Given the description of an element on the screen output the (x, y) to click on. 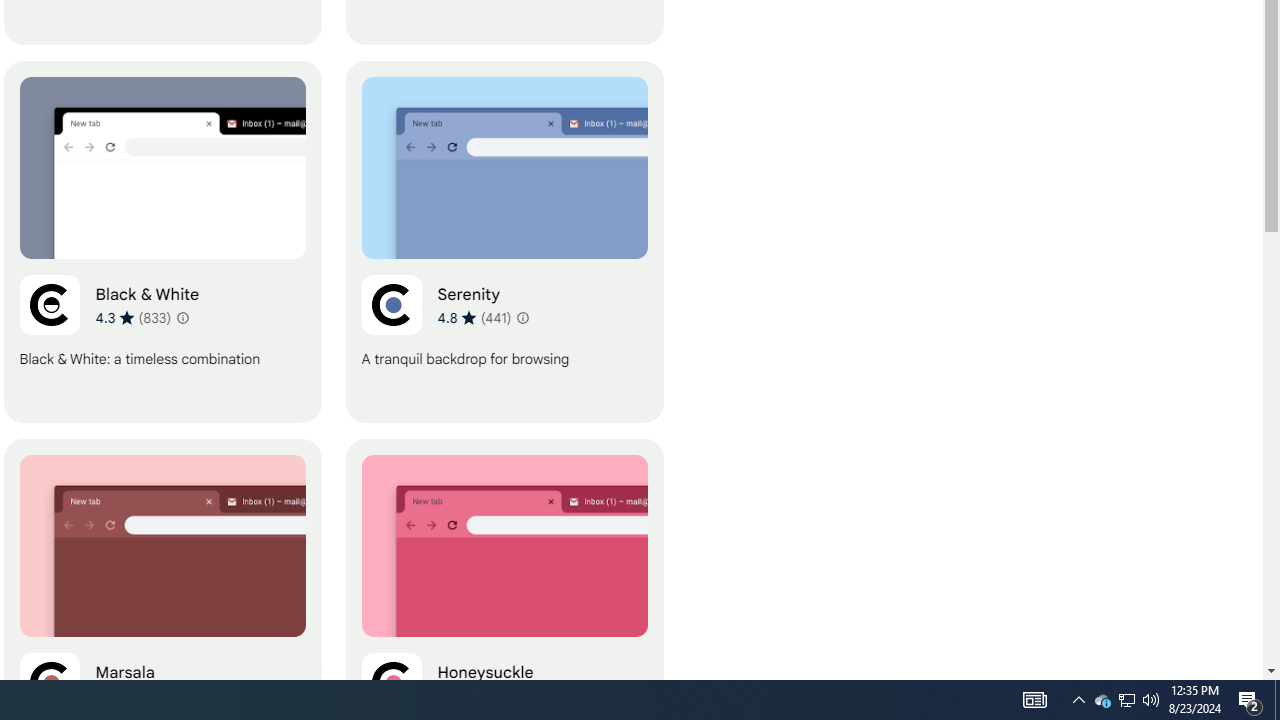
Average rating 4.8 out of 5 stars. 441 ratings. (474, 317)
Serenity (504, 242)
Learn more about results and reviews "Black & White" (182, 317)
Average rating 4.3 out of 5 stars. 833 ratings. (132, 317)
Black & White (162, 242)
Learn more about results and reviews "Serenity" (522, 317)
